Given the description of an element on the screen output the (x, y) to click on. 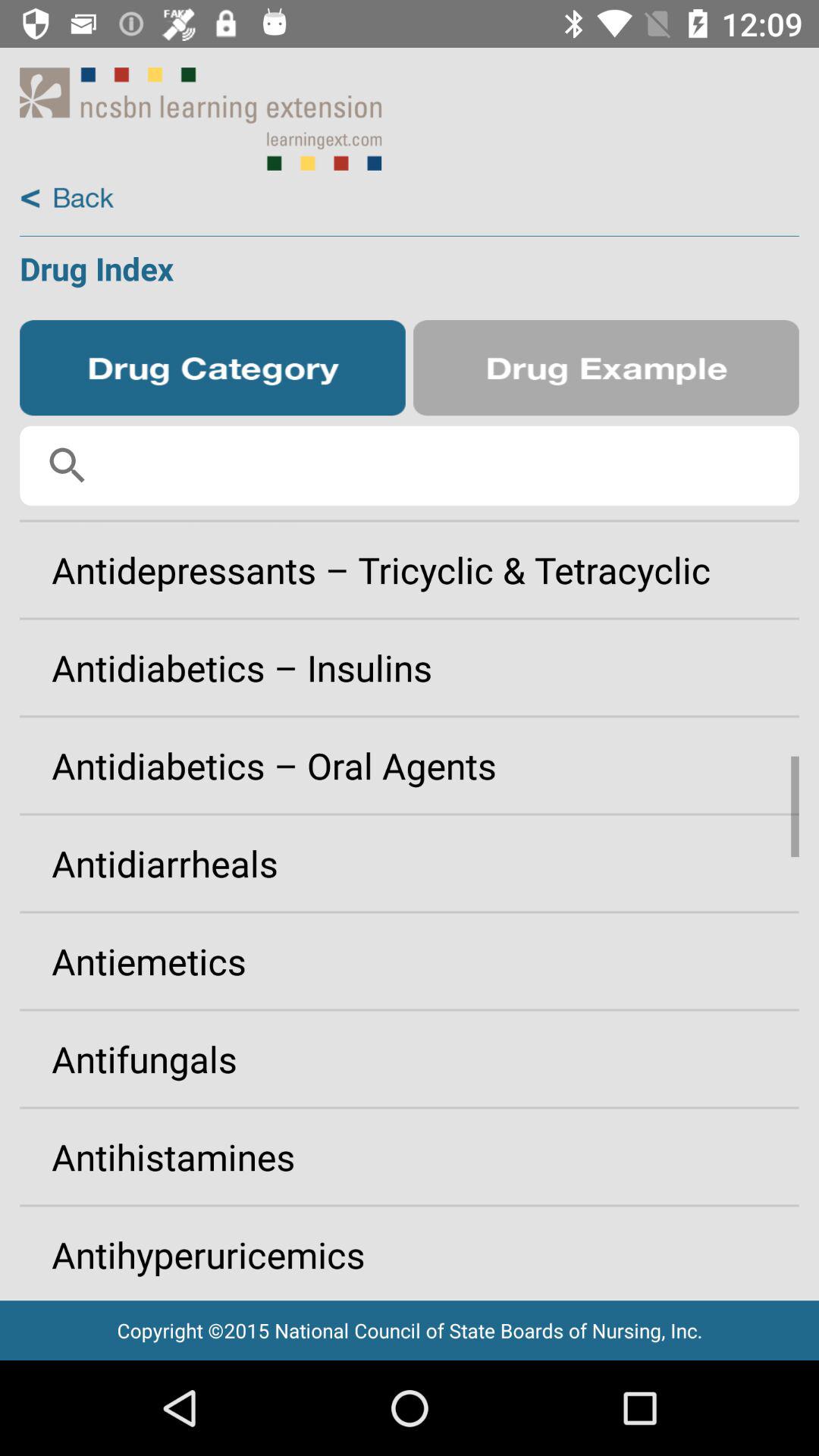
flip until antihyperuricemics (409, 1248)
